Given the description of an element on the screen output the (x, y) to click on. 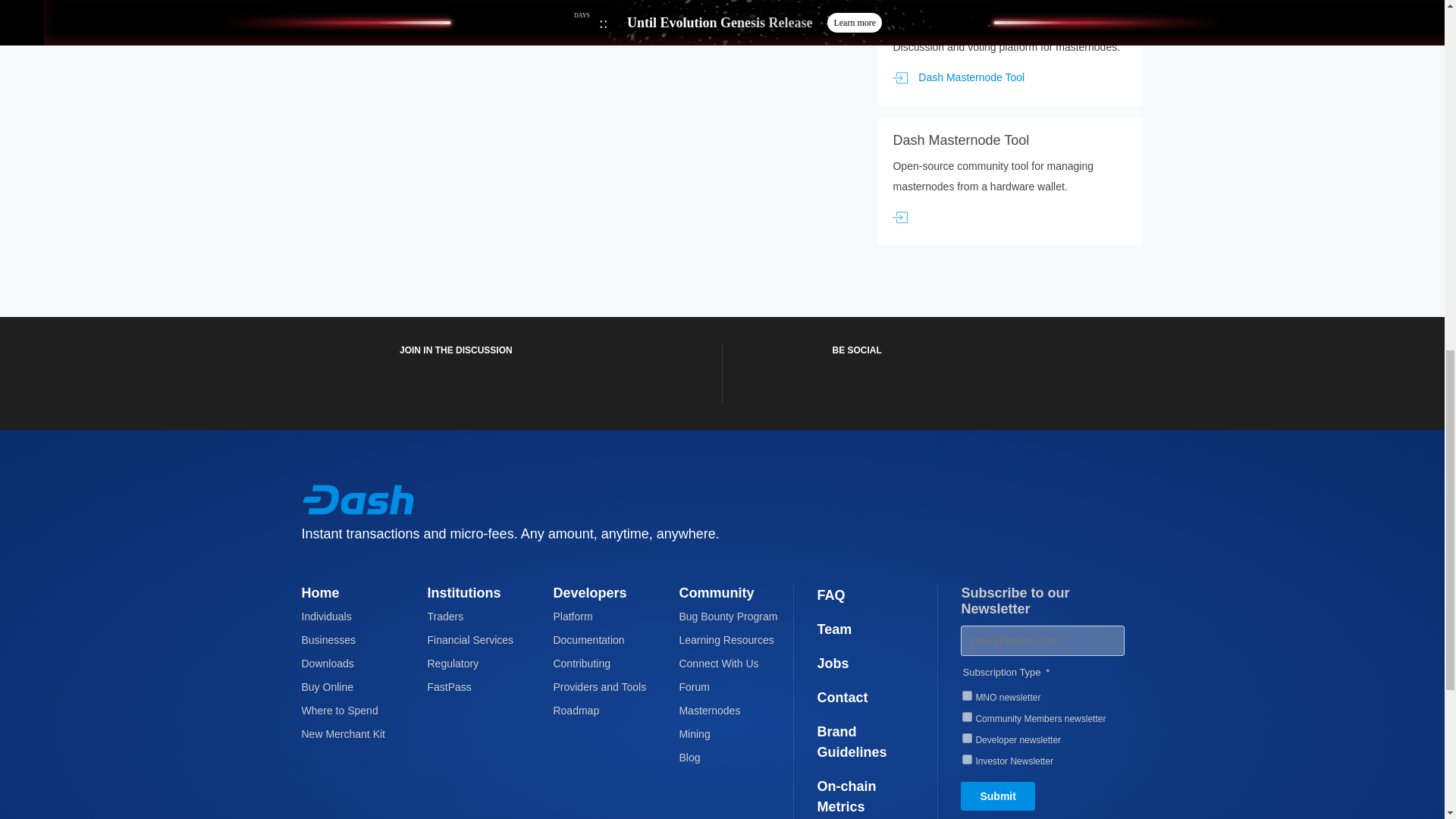
Dash Logo (357, 499)
828e94c9-bd4a-4550-b67d-91c4f5d0a348 (967, 737)
0a9faa61-98db-4726-8362-ef2f0f9de135 (967, 759)
398bdea0-cf30-48af-8d40-d9b42ec623a3 (967, 716)
dd99ff3d-5d3e-4824-af92-bdedb1ee9f05 (967, 696)
